Given the description of an element on the screen output the (x, y) to click on. 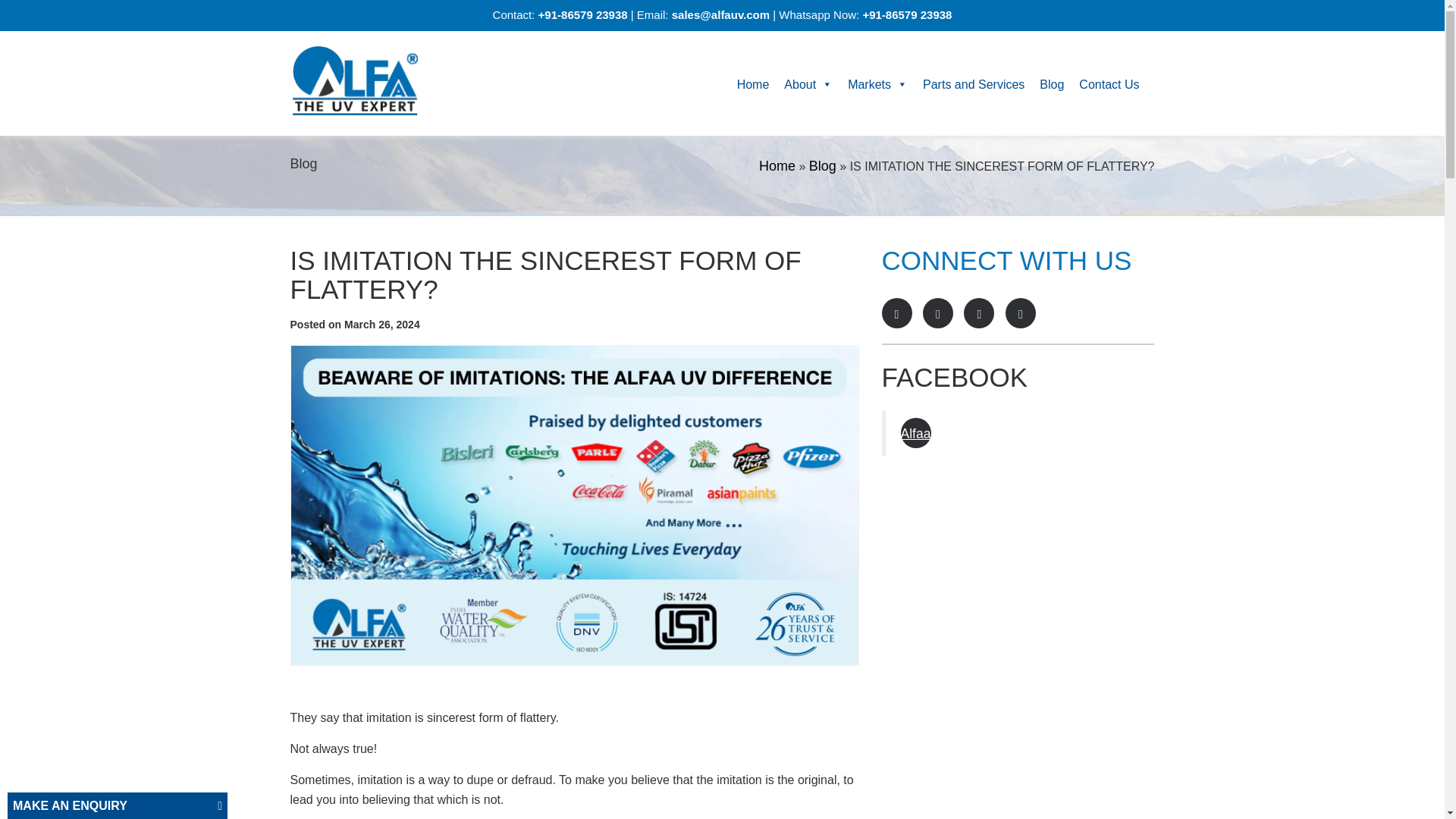
Home (776, 165)
Parts and Services (973, 83)
Alfaa UV (354, 80)
